Given the description of an element on the screen output the (x, y) to click on. 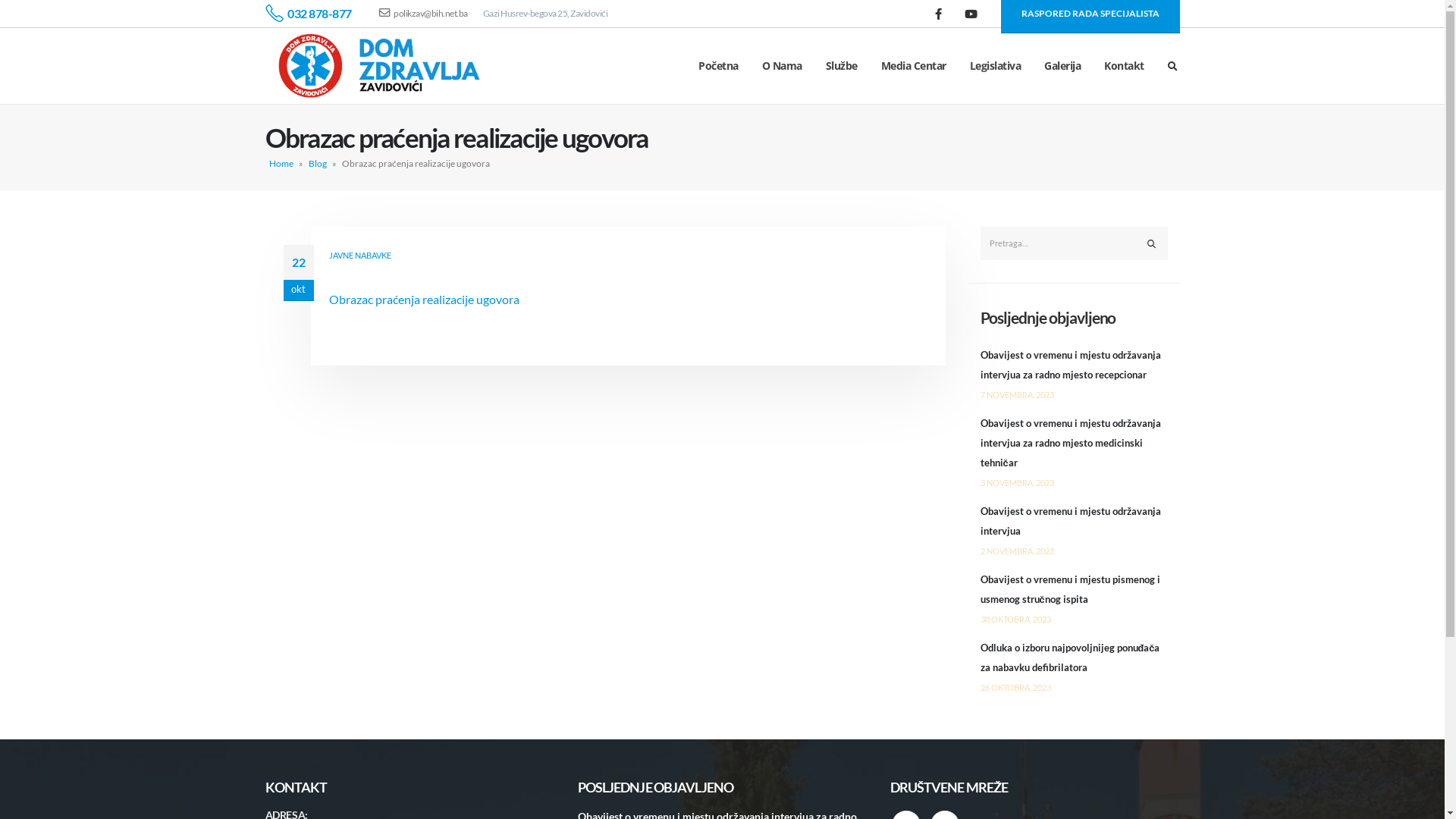
Media Centar Element type: text (913, 65)
Kontakt Element type: text (1123, 65)
Home Element type: text (280, 163)
Blog Element type: text (316, 163)
JAVNE NABAVKE Element type: text (360, 255)
O Nama Element type: text (781, 65)
Youtube Element type: hover (970, 13)
Galerija Element type: text (1062, 65)
Facebook Element type: hover (938, 13)
Legislativa Element type: text (995, 65)
